Given the description of an element on the screen output the (x, y) to click on. 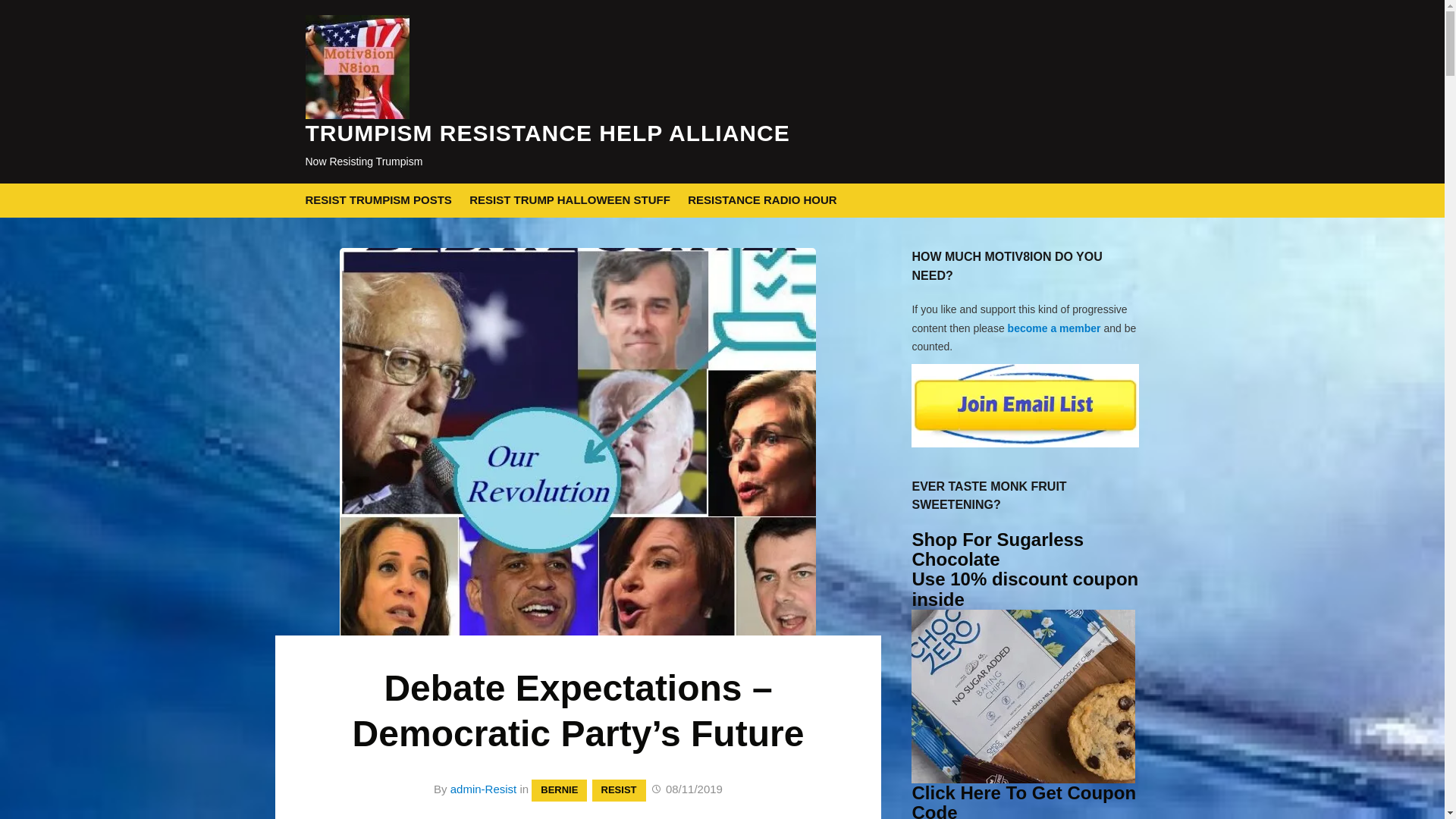
BERNIE (558, 790)
admin-Resist (482, 788)
RESIST TRUMP HALLOWEEN STUFF (568, 200)
TRUMPISM RESISTANCE HELP ALLIANCE (546, 132)
RESISTANCE RADIO HOUR (761, 200)
RESIST (619, 790)
Posts by admin-Resist (482, 788)
RESIST TRUMPISM POSTS (377, 200)
